Given the description of an element on the screen output the (x, y) to click on. 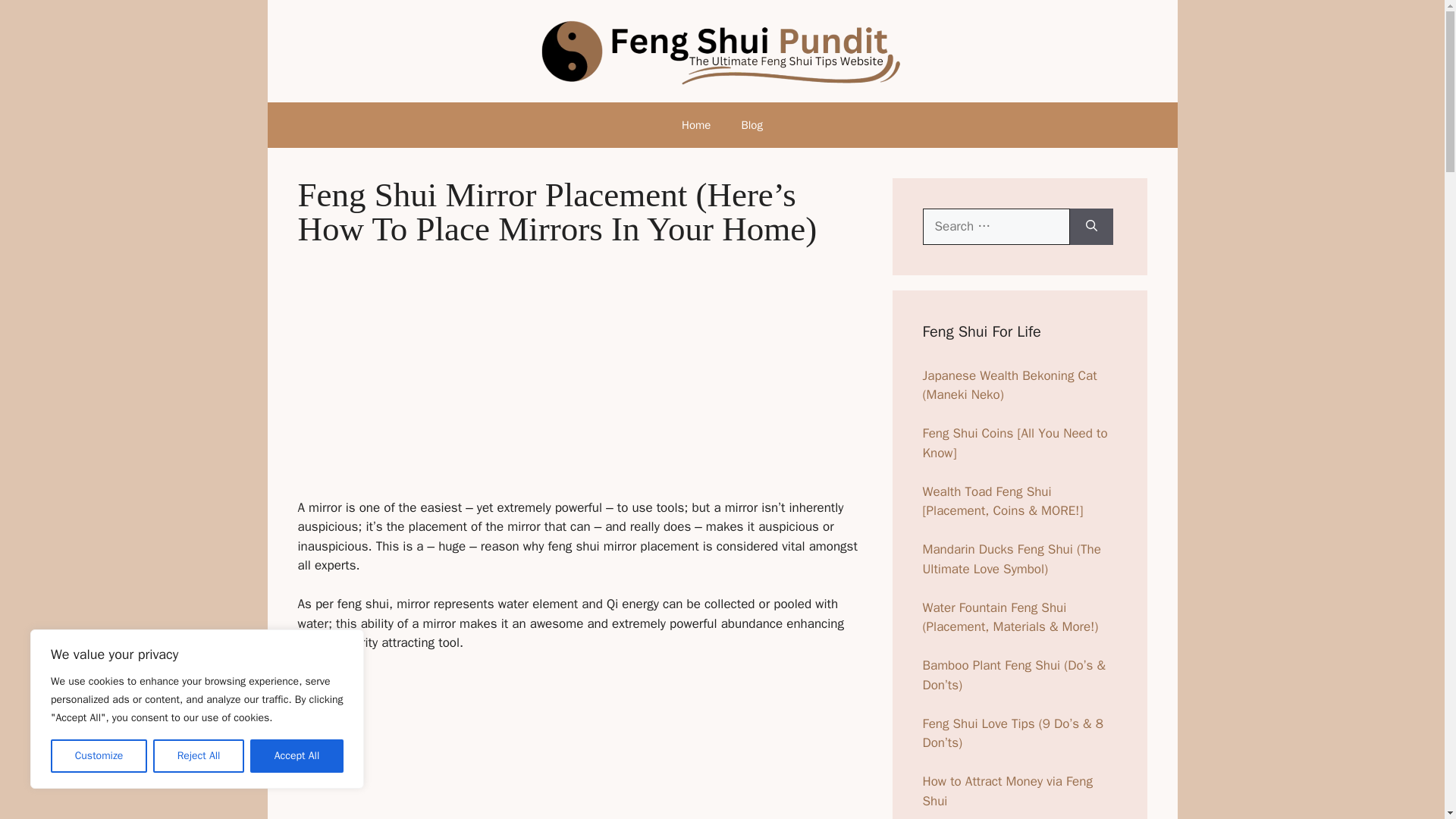
Feng Shui Tips for Wealth (1006, 791)
Maneki Neko (1008, 385)
Accept All (296, 756)
Water Fountain Feng Shui (1009, 617)
Blog (751, 125)
Mandarin Ducks Feng Shui (1010, 559)
Customize (98, 756)
Feng Shui Coins (1013, 443)
Search for: (994, 226)
Advertisement (578, 377)
